Given the description of an element on the screen output the (x, y) to click on. 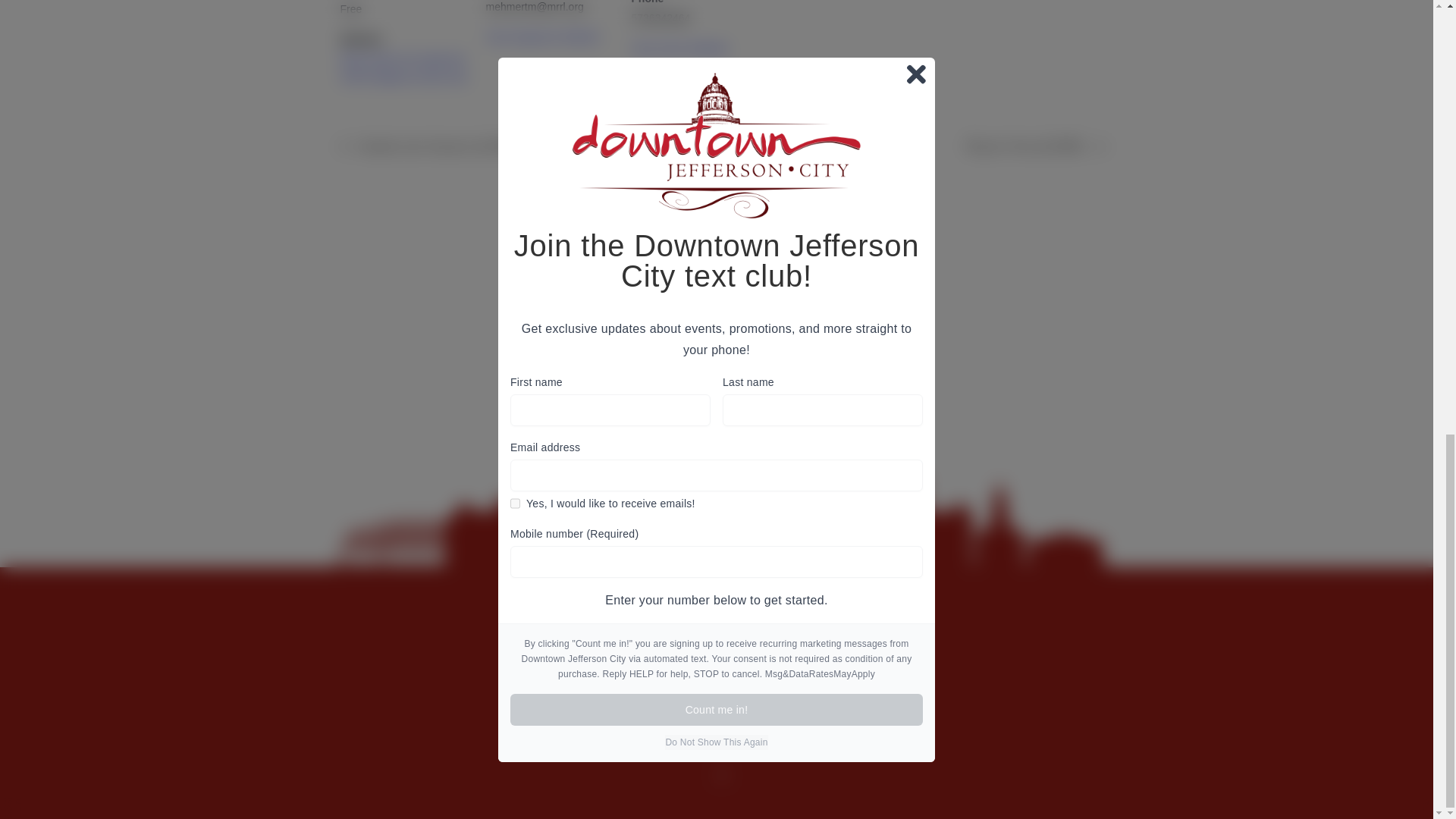
JOIN (795, 736)
EVENTS (642, 736)
Sign Up (878, 321)
Follow on Instagram (721, 775)
OPPORTUNITIES (723, 736)
View Organizer Website (541, 37)
CONNECT (850, 736)
View Venue Website (679, 48)
ABOUT (585, 736)
